Given the description of an element on the screen output the (x, y) to click on. 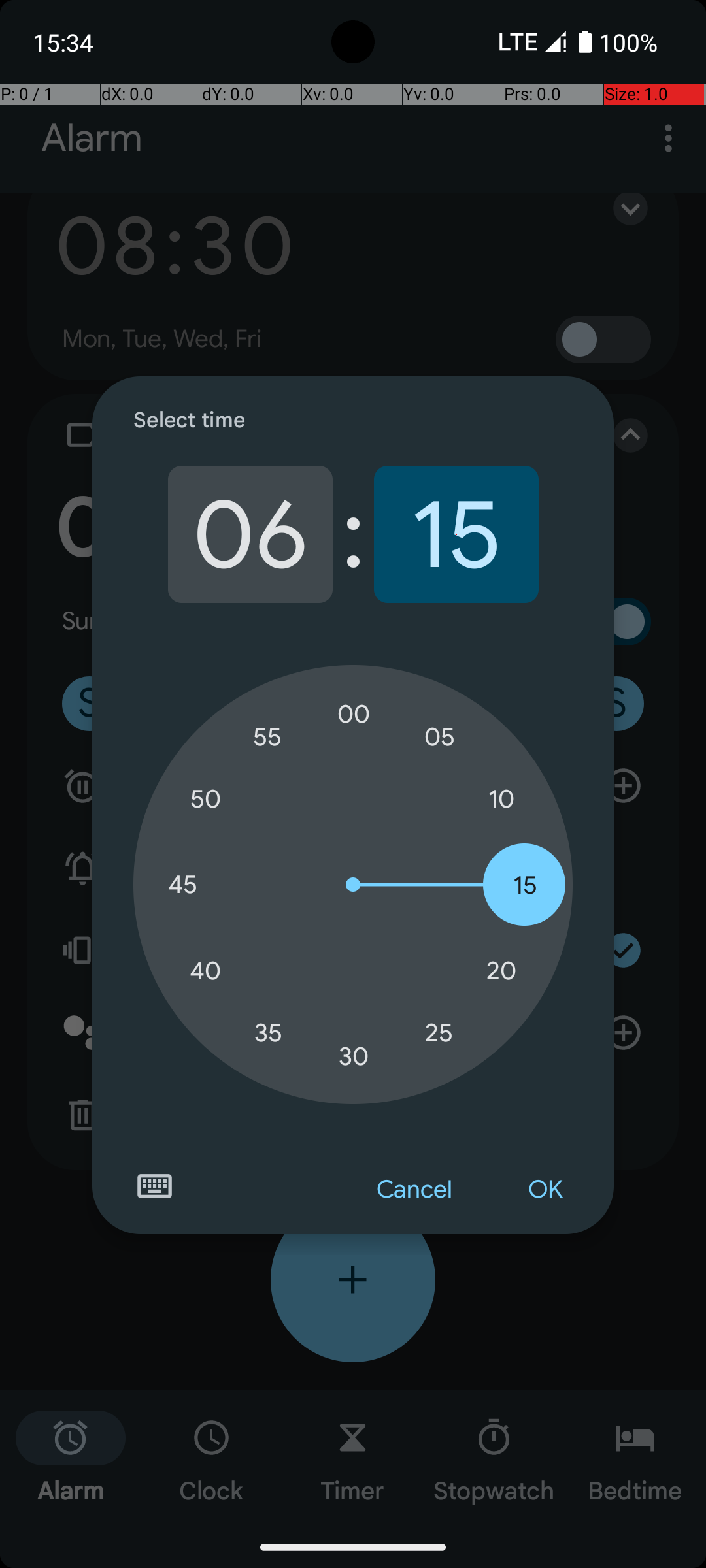
06 Element type: android.view.View (250, 534)
